Given the description of an element on the screen output the (x, y) to click on. 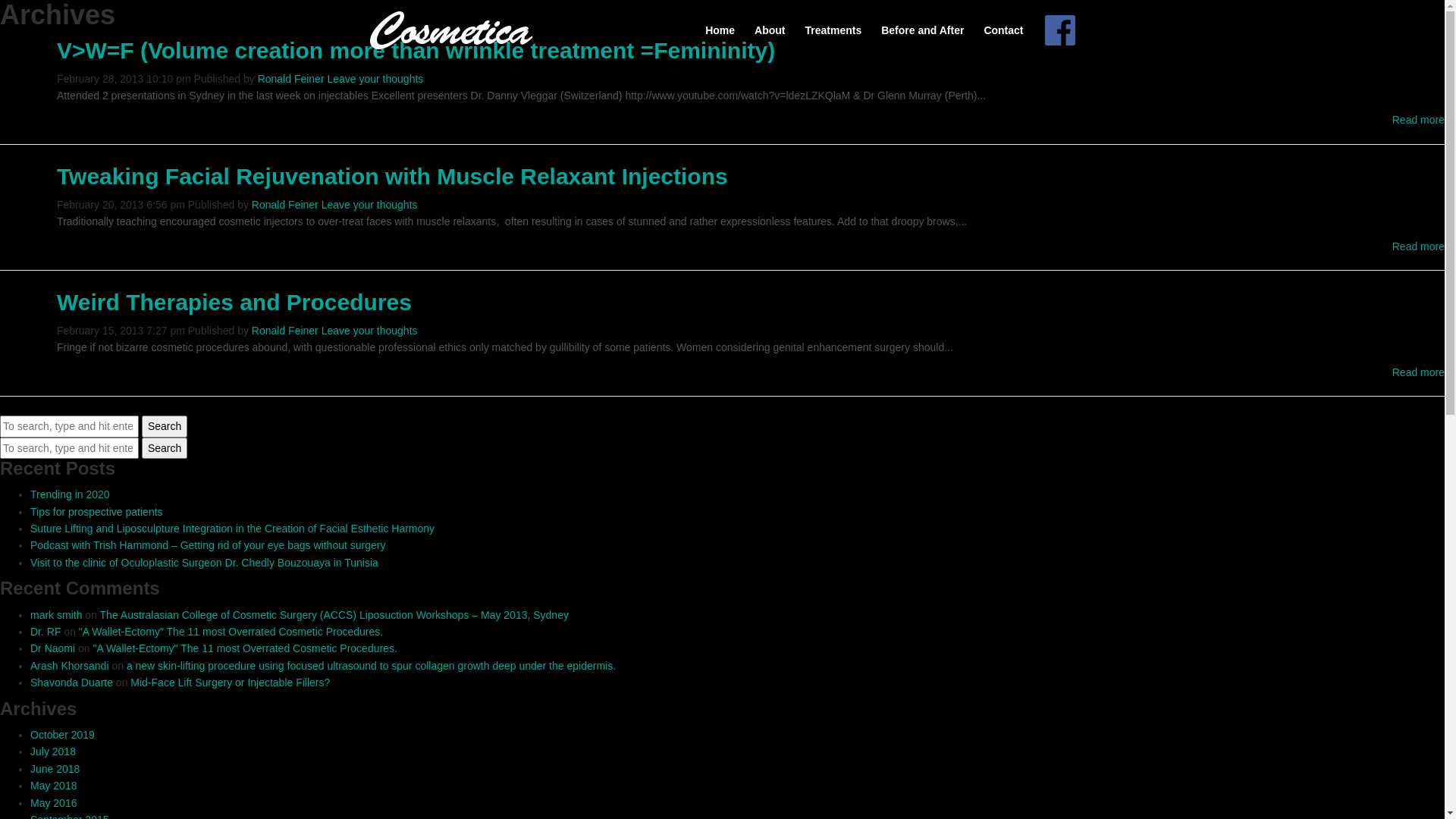
Trending in 2020 Element type: text (69, 494)
"A Wallet-Ectomy" The 11 most Overrated Cosmetic Procedures. Element type: text (230, 631)
Tips for prospective patients Element type: text (96, 511)
Ronald Feiner Element type: text (284, 330)
Ronald Feiner Element type: text (284, 204)
Leave your thoughts Element type: text (369, 330)
Treatments Element type: text (832, 30)
"A Wallet-Ectomy" The 11 most Overrated Cosmetic Procedures. Element type: text (244, 648)
Read more Element type: text (1418, 372)
Leave your thoughts Element type: text (374, 78)
Tweaking Facial Rejuvenation with Muscle Relaxant Injections Element type: text (392, 175)
About Element type: text (769, 30)
Read more Element type: text (1418, 246)
Leave your thoughts Element type: text (369, 204)
Ronald Feiner Element type: text (290, 78)
October 2019 Element type: text (62, 734)
Before and After Element type: text (922, 30)
Search Element type: text (164, 425)
Dr. RF Element type: text (45, 631)
Weird Therapies and Procedures Element type: text (233, 301)
June 2018 Element type: text (54, 768)
Shavonda Duarte Element type: text (71, 682)
Contact Element type: text (1002, 30)
Dr Naomi Element type: text (52, 648)
Arash Khorsandi Element type: text (69, 665)
Mid-Face Lift Surgery or Injectable Fillers? Element type: text (229, 682)
mark smith Element type: text (55, 614)
Read more Element type: text (1418, 119)
Search Element type: text (164, 447)
July 2018 Element type: text (52, 751)
May 2016 Element type: text (53, 803)
May 2018 Element type: text (53, 785)
Home Element type: text (719, 30)
